Given the description of an element on the screen output the (x, y) to click on. 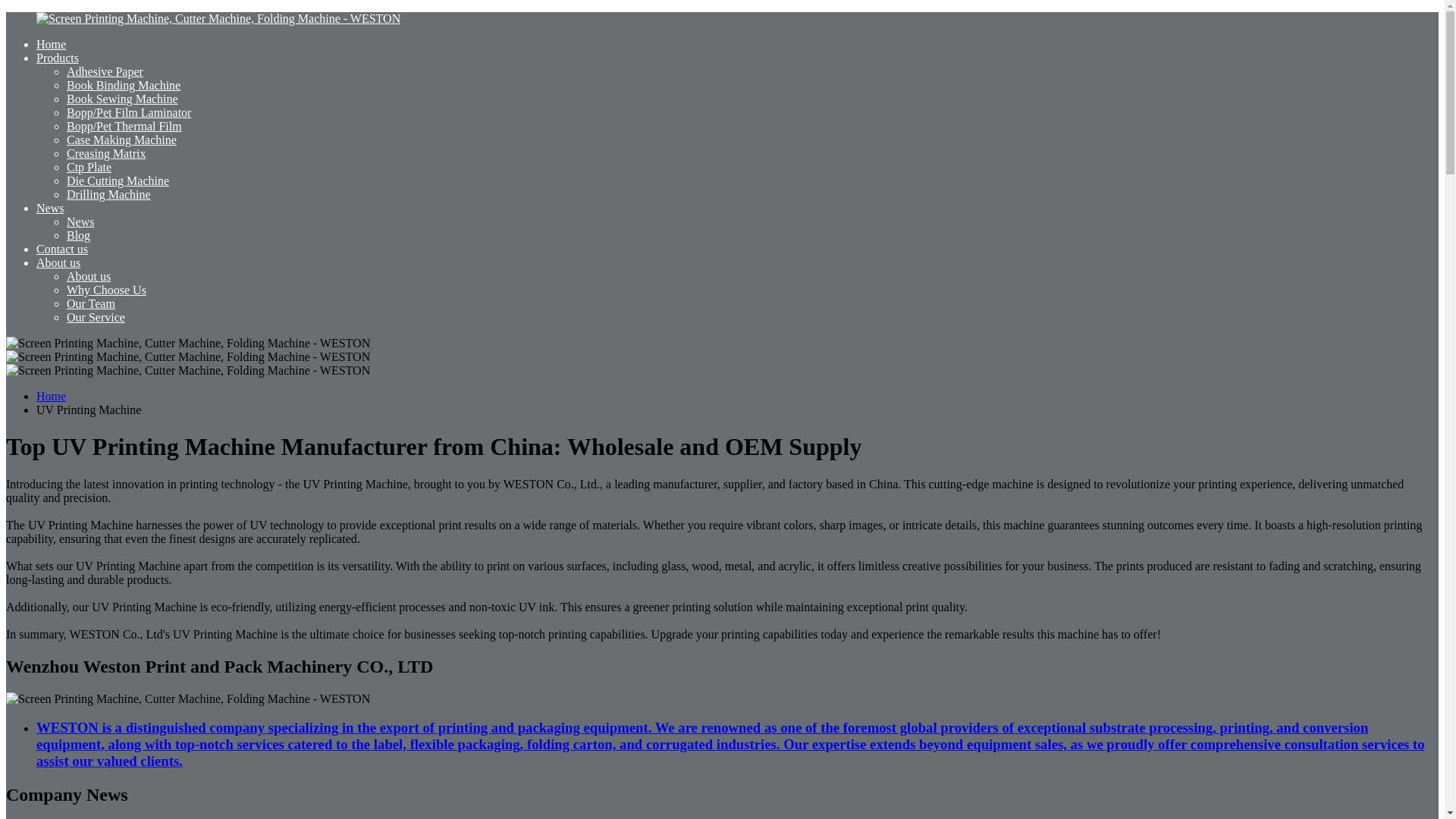
Die Cutting Machine (117, 180)
Ctp Plate (89, 166)
About us (88, 276)
Blog (78, 235)
Products (57, 57)
Home (50, 43)
News (80, 221)
Adhesive Paper (104, 71)
Book Binding Machine (123, 84)
Our Team (90, 303)
About us (58, 262)
Case Making Machine (121, 139)
News (50, 207)
Contact us (61, 248)
Our Service (95, 317)
